Given the description of an element on the screen output the (x, y) to click on. 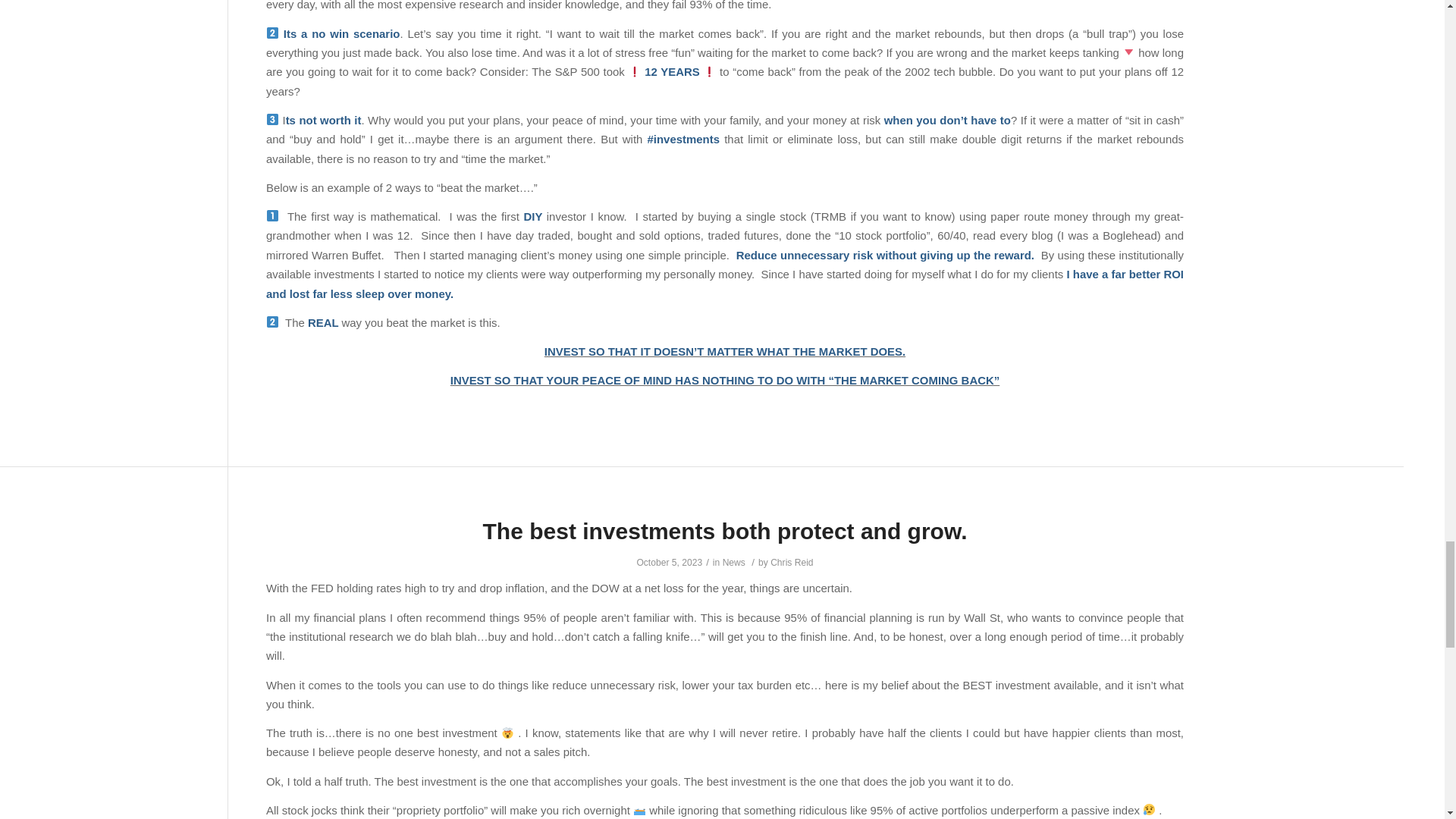
The best investments both protect and grow. (725, 530)
News (733, 562)
Permanent Link: The best investments both protect and grow. (725, 530)
Chris Reid (791, 562)
Posts by Chris Reid (791, 562)
